Given the description of an element on the screen output the (x, y) to click on. 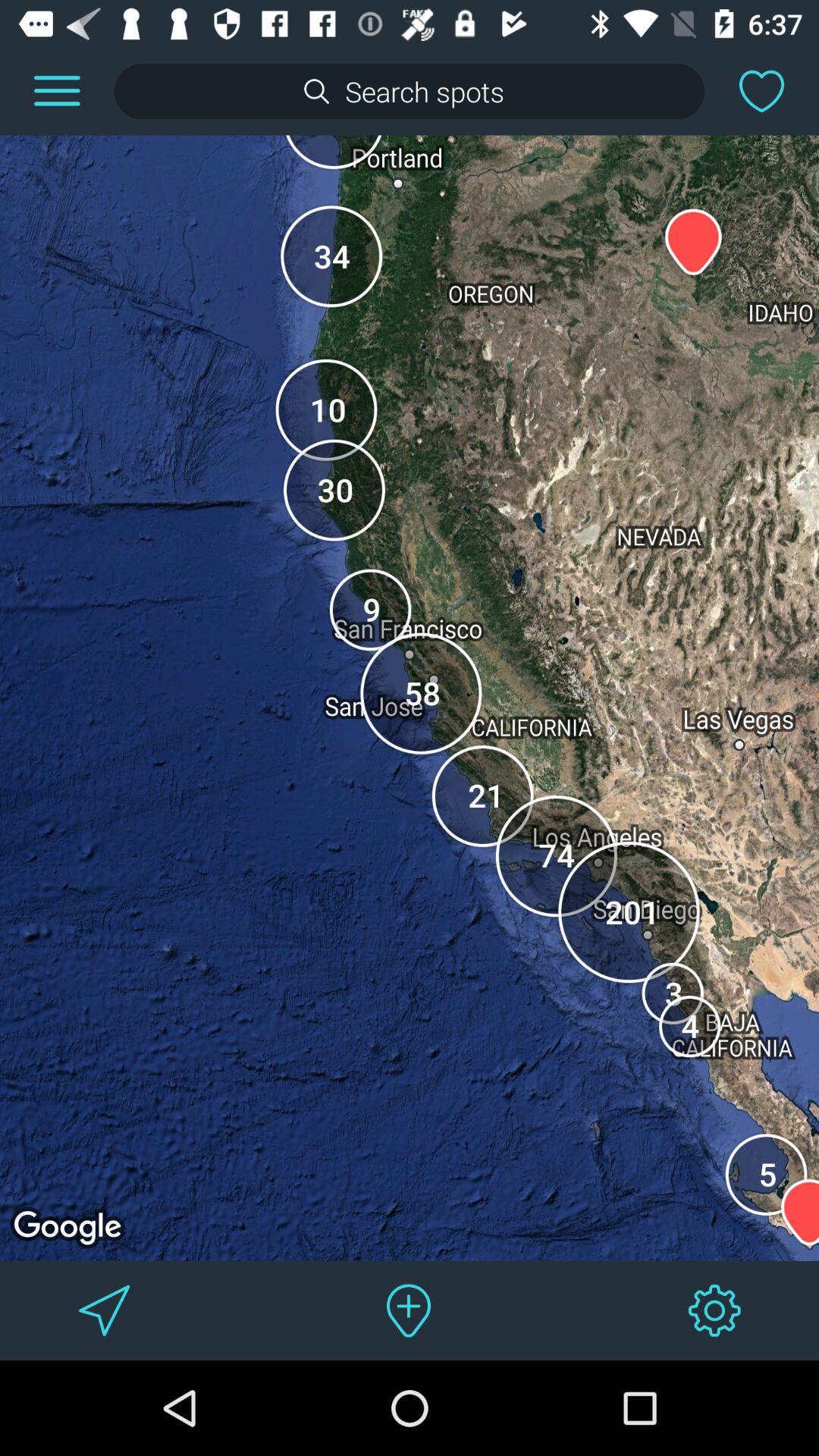
go to (104, 1310)
